Given the description of an element on the screen output the (x, y) to click on. 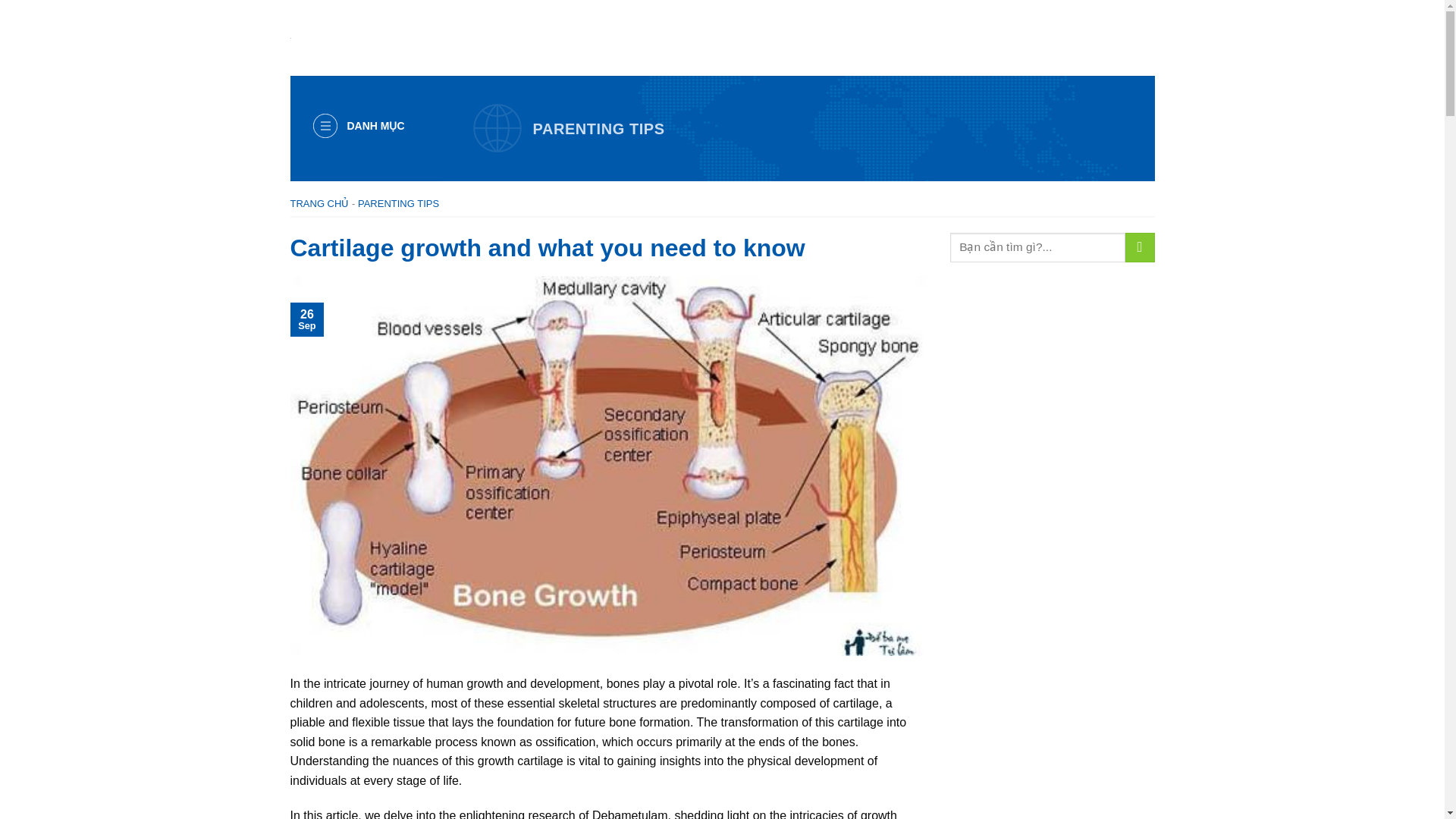
PARENTING TIPS (597, 128)
PARENTING TIPS (398, 203)
